Given the description of an element on the screen output the (x, y) to click on. 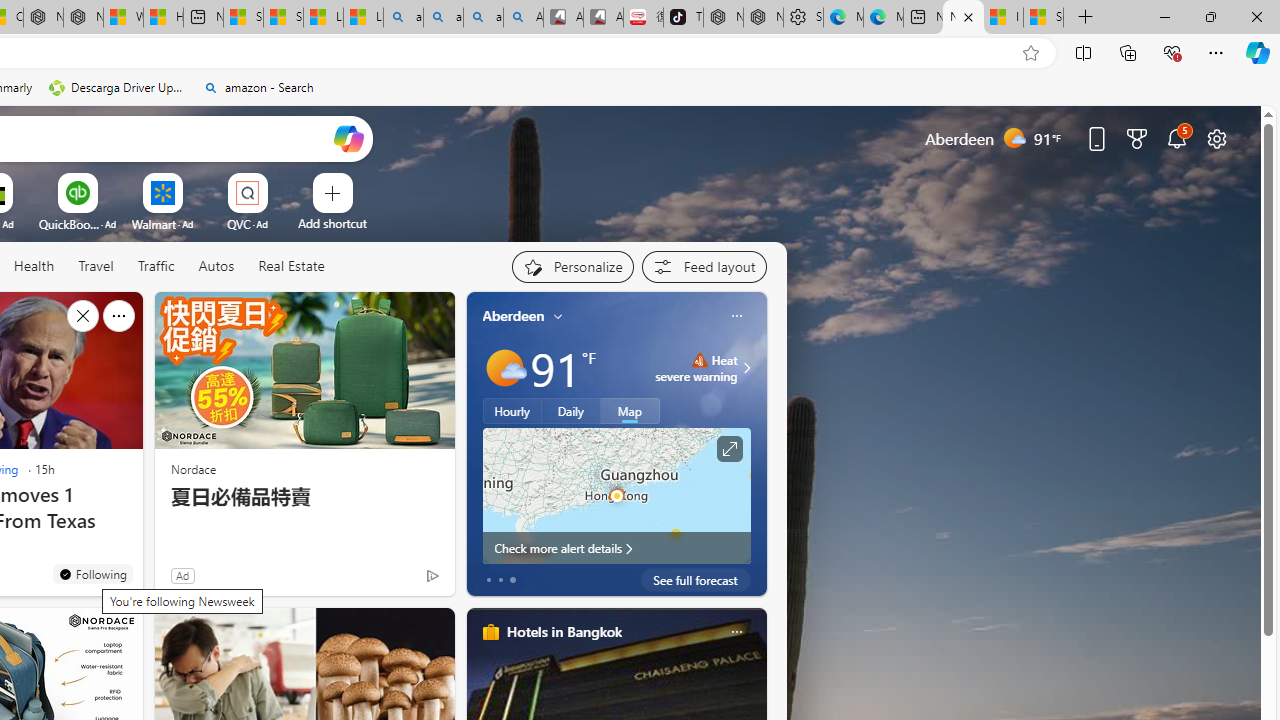
All Cubot phones (603, 17)
Microsoft rewards (1137, 138)
Open Copilot (347, 138)
Autos (216, 267)
Travel (95, 267)
More options (736, 631)
Amazon Echo Robot - Search Images (523, 17)
Personalize your feed" (571, 266)
